Given the description of an element on the screen output the (x, y) to click on. 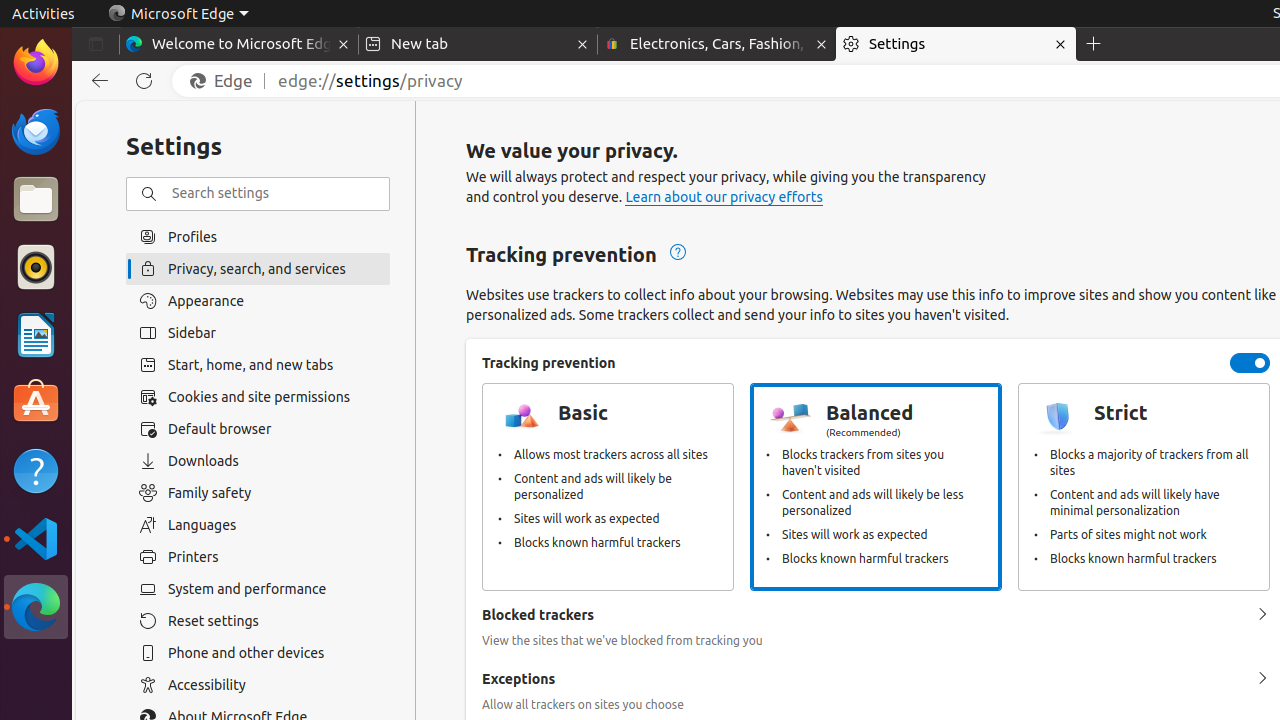
Family safety Element type: tree-item (258, 493)
Help Element type: push-button (36, 470)
New tab Element type: page-tab (478, 44)
Rhythmbox Element type: push-button (36, 267)
Appearance Element type: tree-item (258, 301)
